Given the description of an element on the screen output the (x, y) to click on. 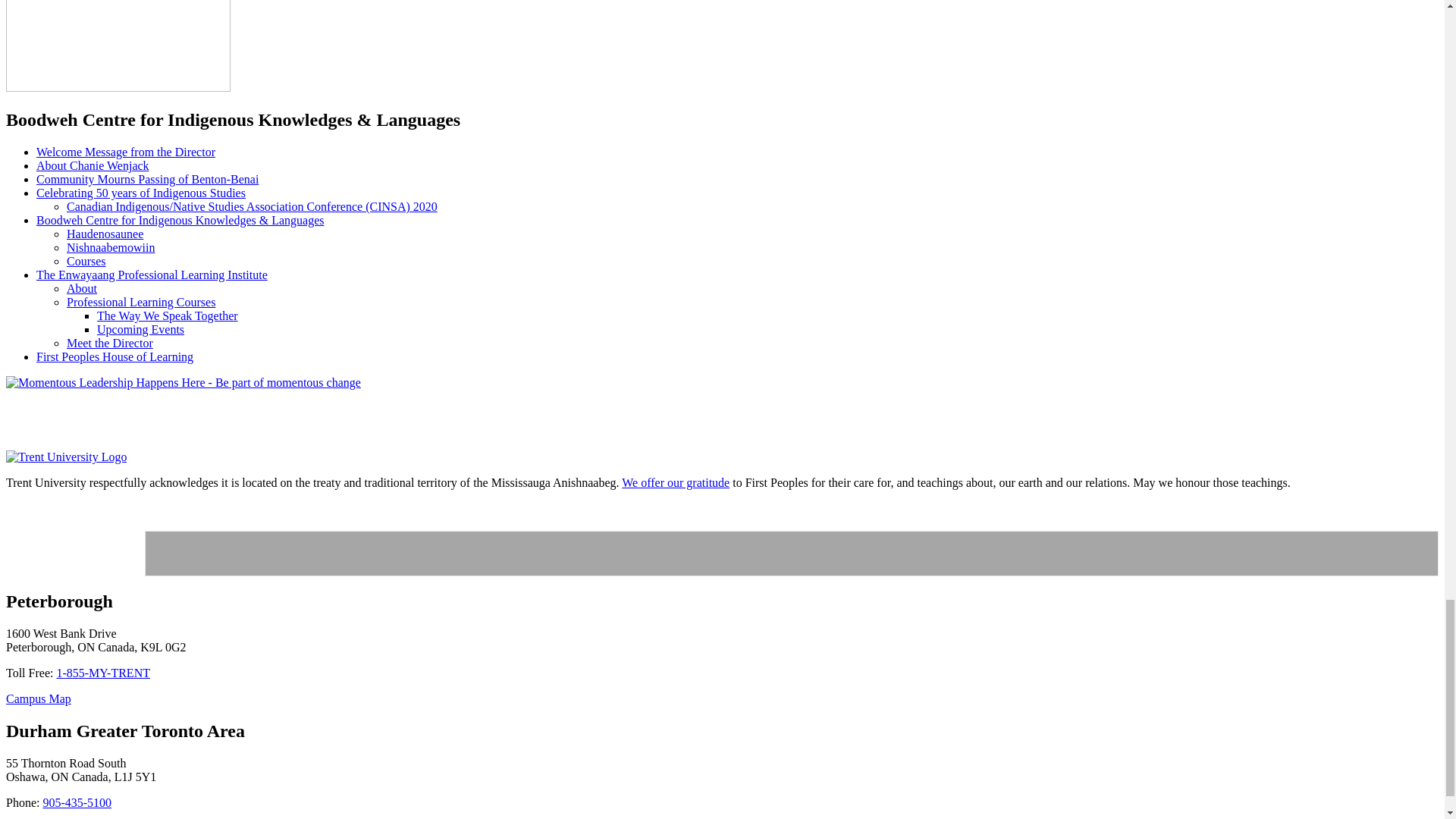
Footer link to homepage (65, 456)
